Given the description of an element on the screen output the (x, y) to click on. 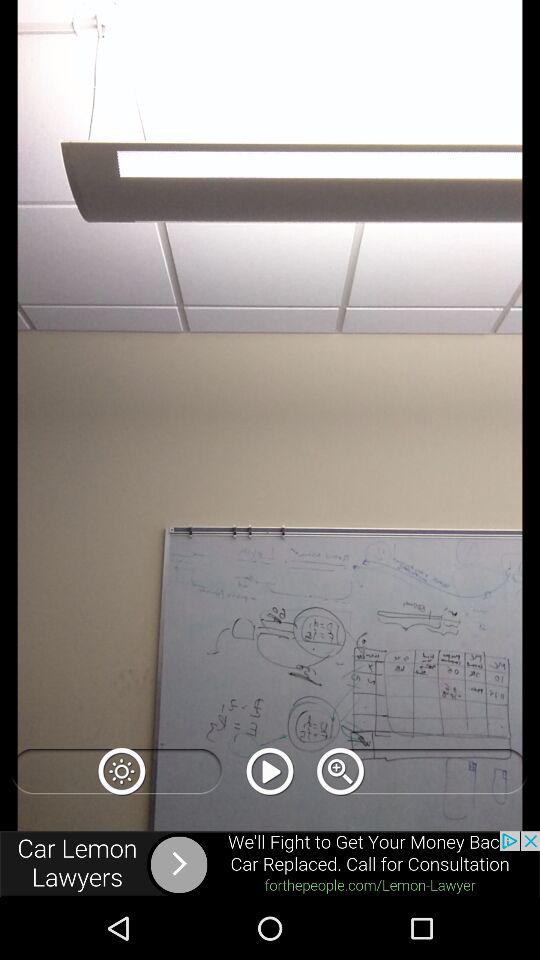
advertisement link to different site (270, 864)
